Given the description of an element on the screen output the (x, y) to click on. 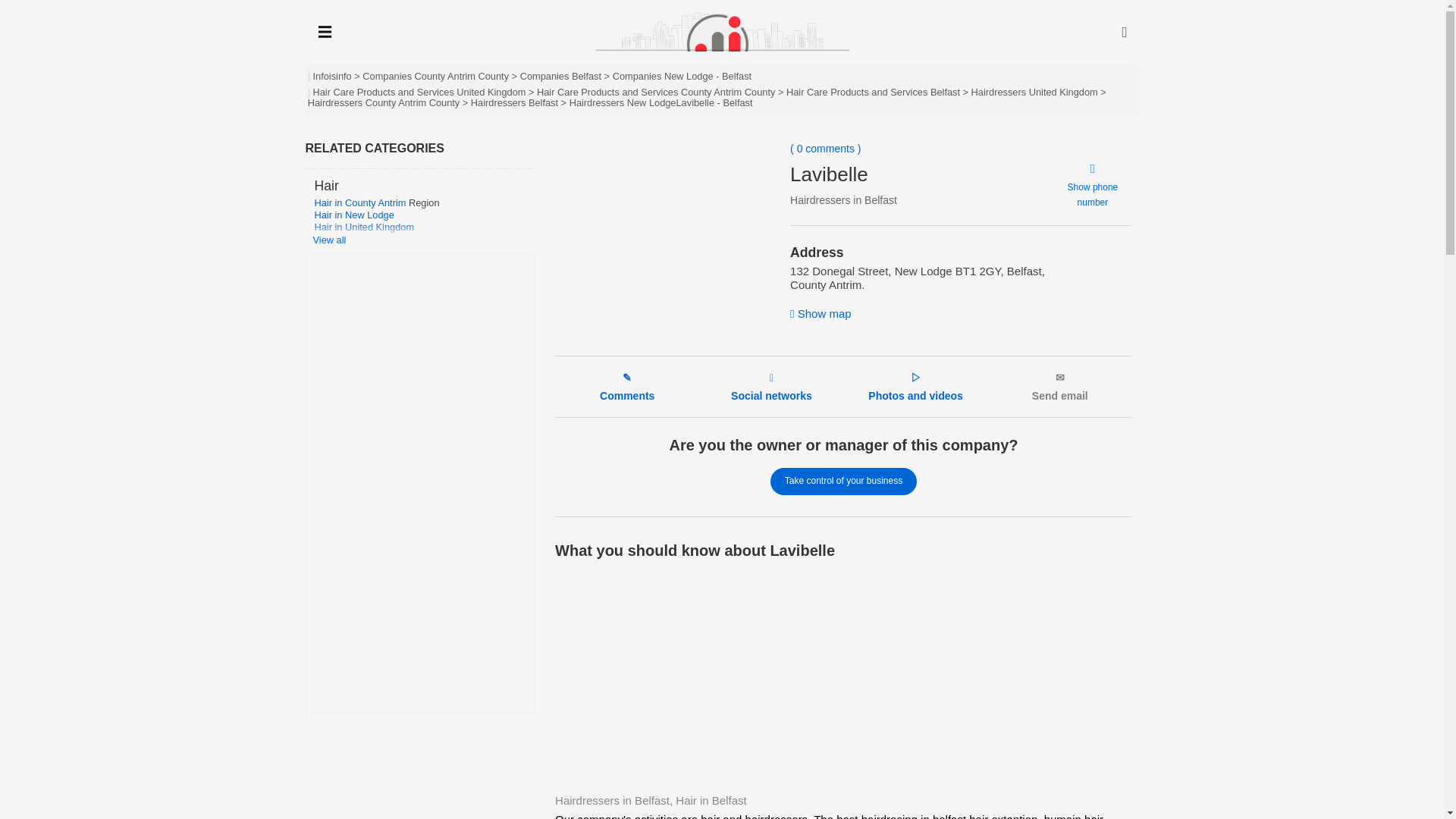
Hairdressers United Kingdom (1034, 91)
Hair in New Lodge (353, 214)
Infoisinfo (331, 75)
Hairdressers County Antrim County (383, 102)
Hair Care Products and Services Belfast (872, 91)
Hair in United Kingdom (363, 226)
Companies New Lodge - Belfast (682, 75)
View all (422, 240)
Hair Care Products and Services County Antrim County (655, 91)
Hair Care Products and Services United Kingdom (419, 91)
Hair in County Antrim (360, 202)
Companies Belfast (560, 75)
Hairdressers Belfast (513, 102)
Take control of your business (843, 481)
InfoisInfo (721, 31)
